Given the description of an element on the screen output the (x, y) to click on. 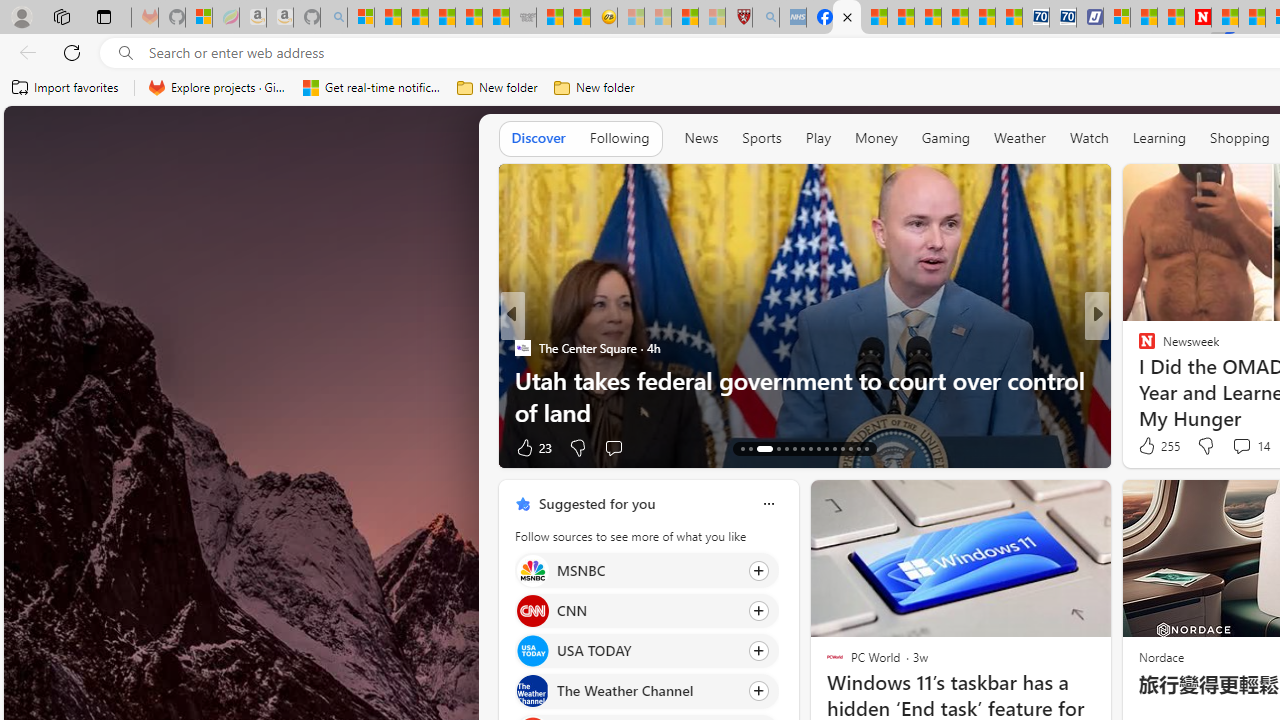
AutomationID: tab-71 (793, 448)
Skyler Mattress (1170, 380)
View comments 228 Comment (1240, 447)
AutomationID: tab-92 (865, 448)
AutomationID: tab-67 (750, 448)
14 Like (1149, 447)
9 Like (1145, 447)
ETNT Mind+Body (1138, 347)
The Weather Channel (532, 691)
